Given the description of an element on the screen output the (x, y) to click on. 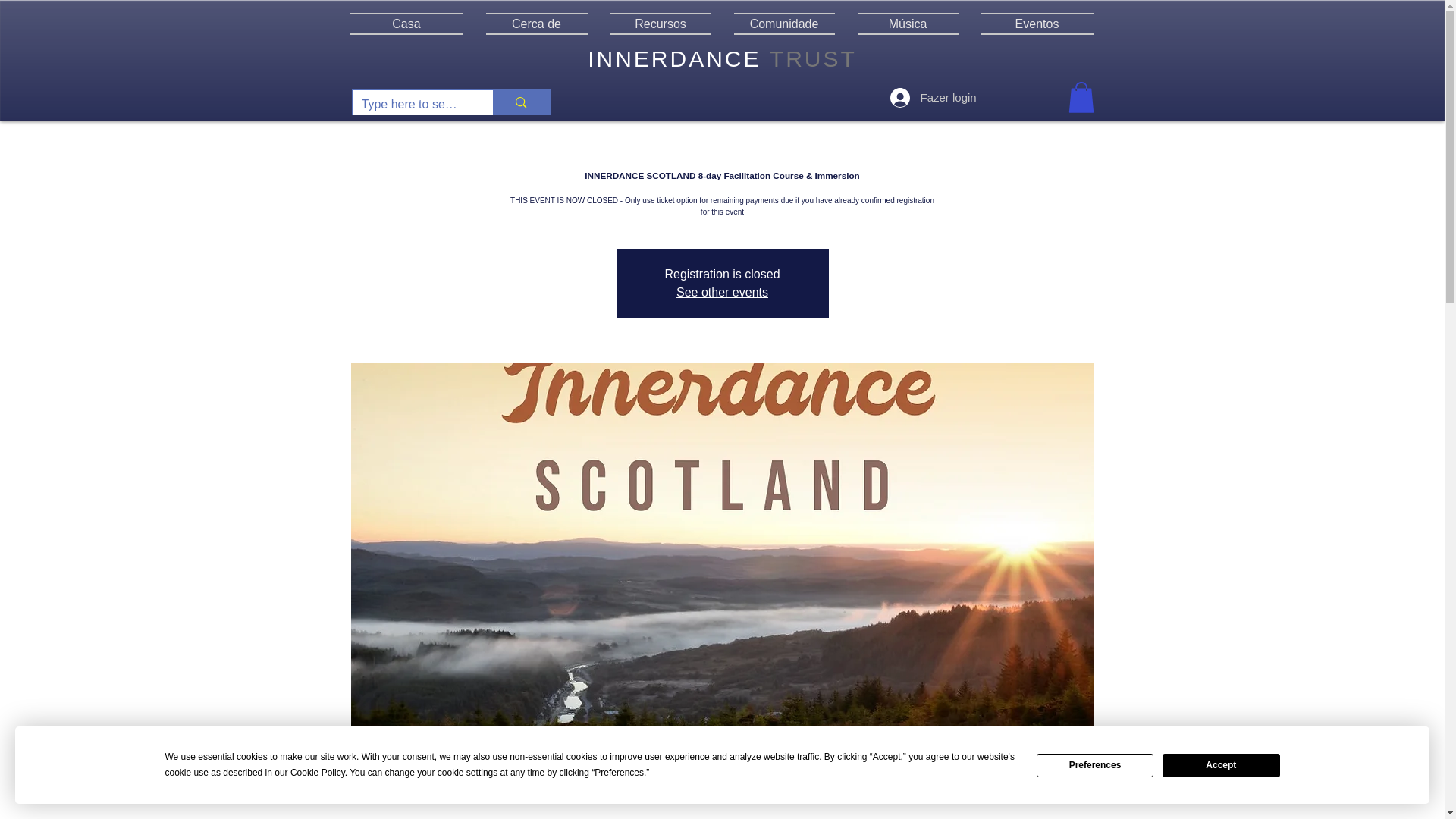
Fazer login (925, 97)
Eventos (1031, 24)
See other events (722, 291)
Recursos (660, 24)
Casa (412, 24)
Preferences (1094, 765)
Accept (1220, 765)
